Given the description of an element on the screen output the (x, y) to click on. 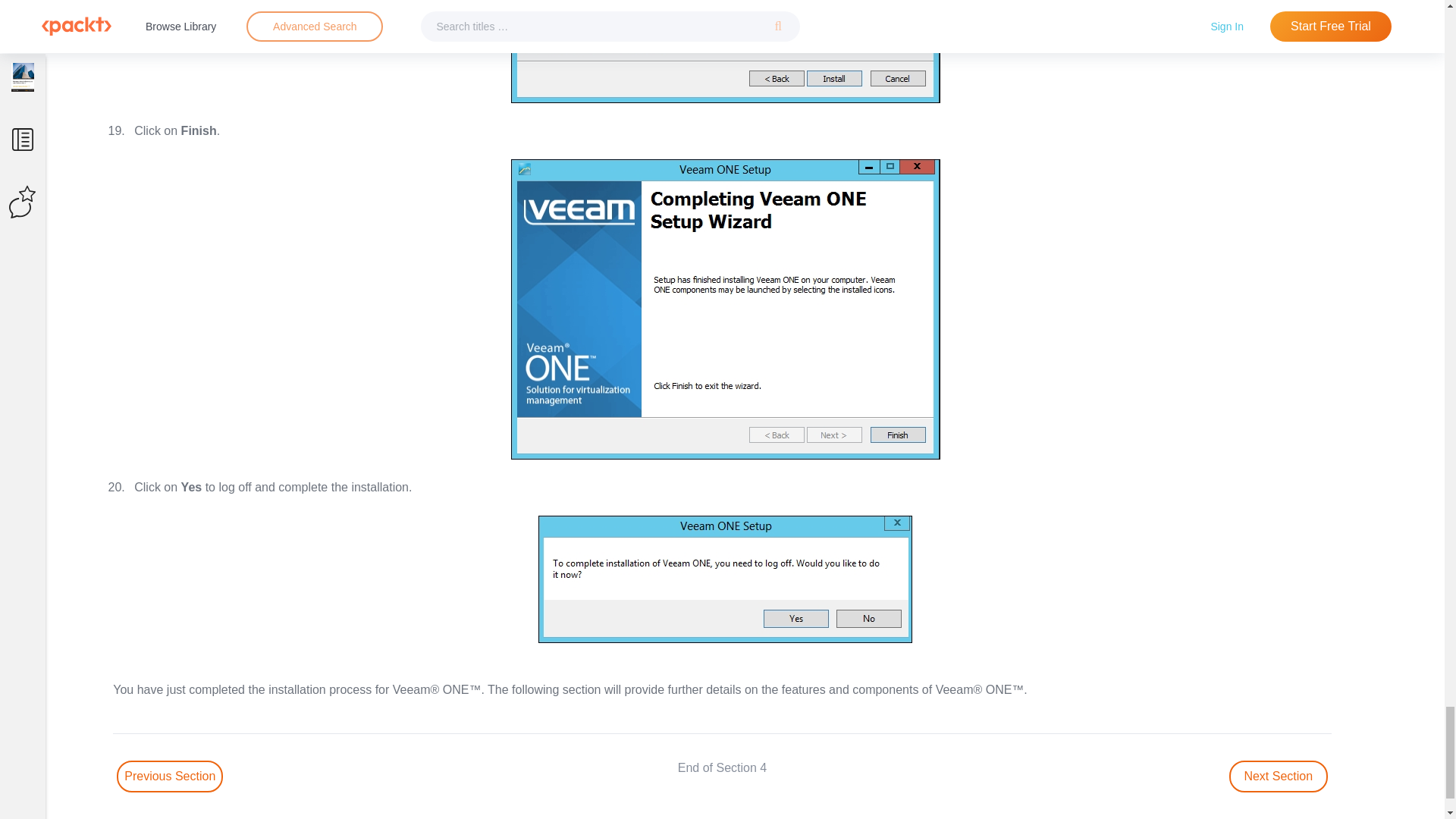
Go to Previous section (169, 776)
Go to next section (1277, 776)
